Given the description of an element on the screen output the (x, y) to click on. 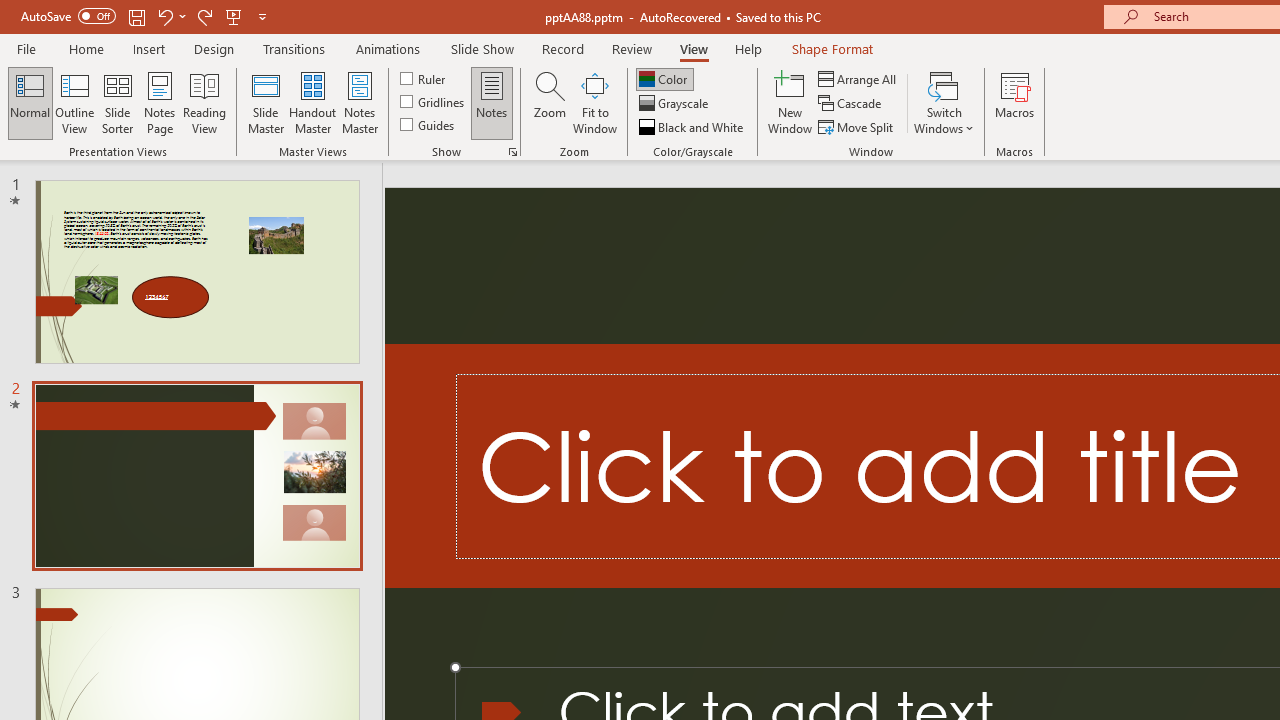
Color (664, 78)
Arrange All (858, 78)
Notes Master (360, 102)
Handout Master (312, 102)
Cascade (851, 103)
Shape Format (832, 48)
